Given the description of an element on the screen output the (x, y) to click on. 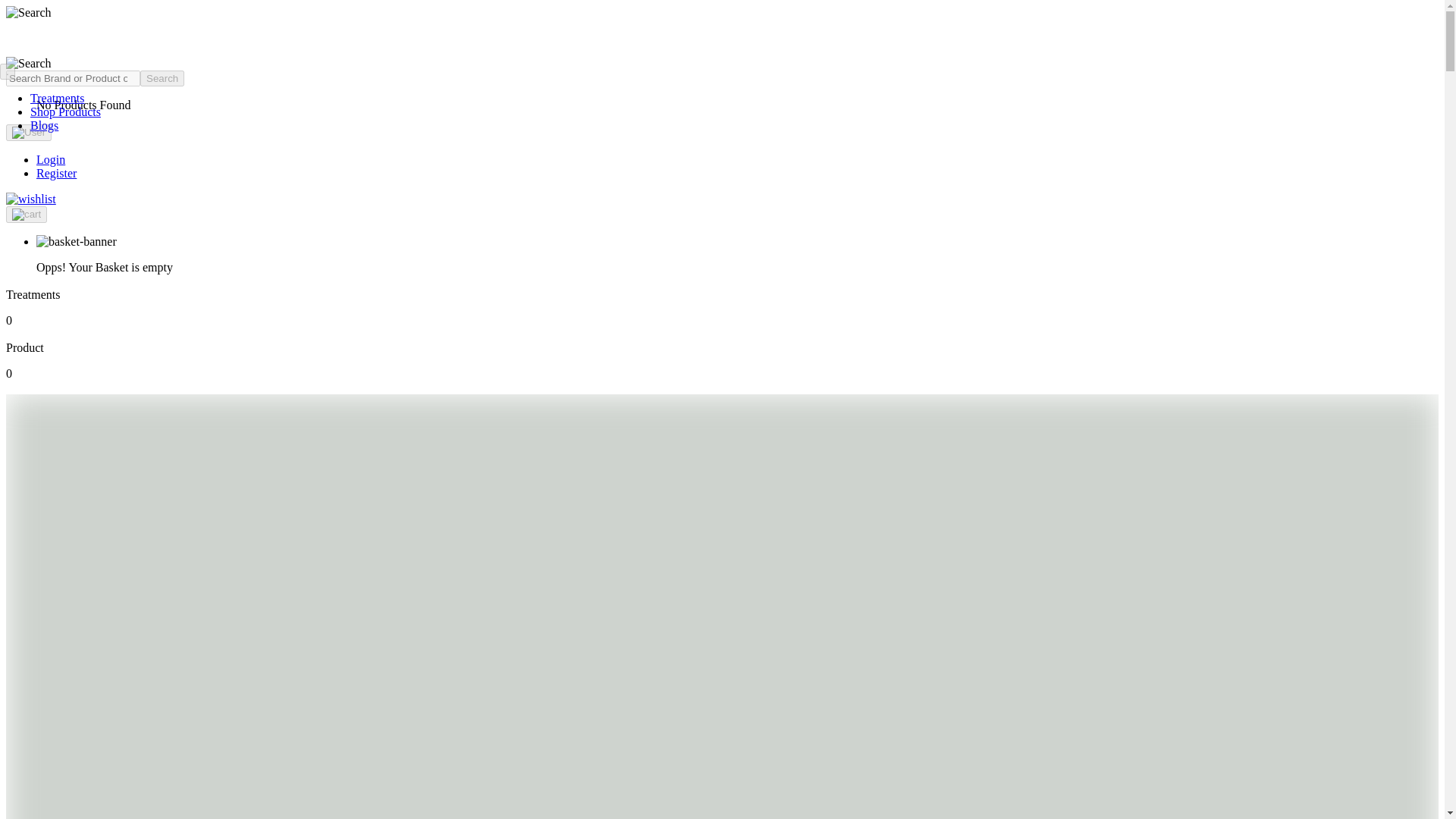
Shop Products (65, 111)
Register (56, 173)
Logo (60, 49)
Login (50, 159)
wishlist (30, 198)
Search (161, 78)
Blogs (44, 124)
Treatments (57, 97)
. (7, 71)
